Given the description of an element on the screen output the (x, y) to click on. 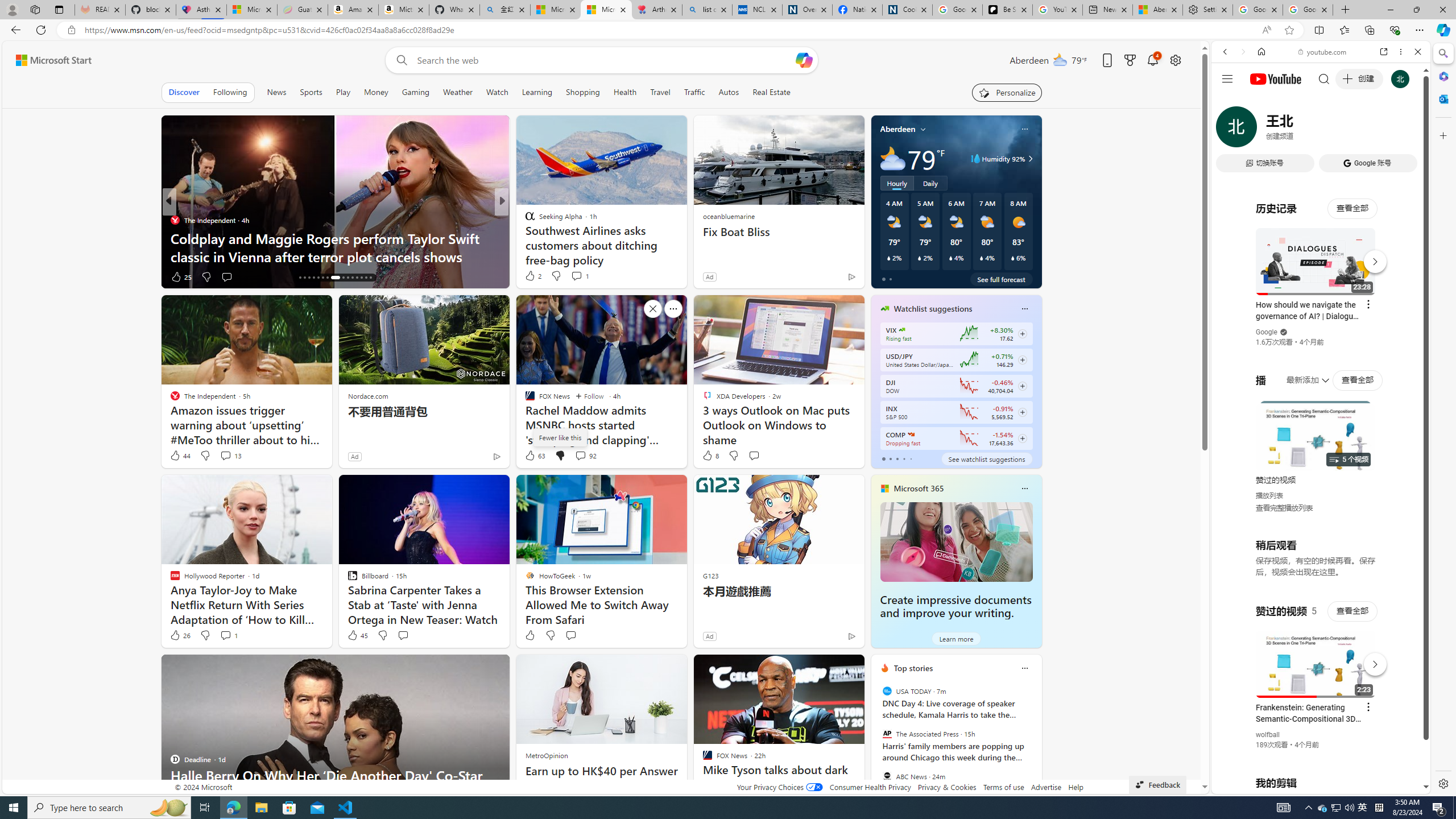
Weather (457, 92)
Watch (496, 92)
AutomationID: tab-19 (313, 277)
Learn more (956, 638)
list of asthma inhalers uk - Search (706, 9)
AutomationID: tab-20 (317, 277)
G123 (710, 574)
Humidity 92% (1028, 158)
Trailer #2 [HD] (1320, 336)
